Given the description of an element on the screen output the (x, y) to click on. 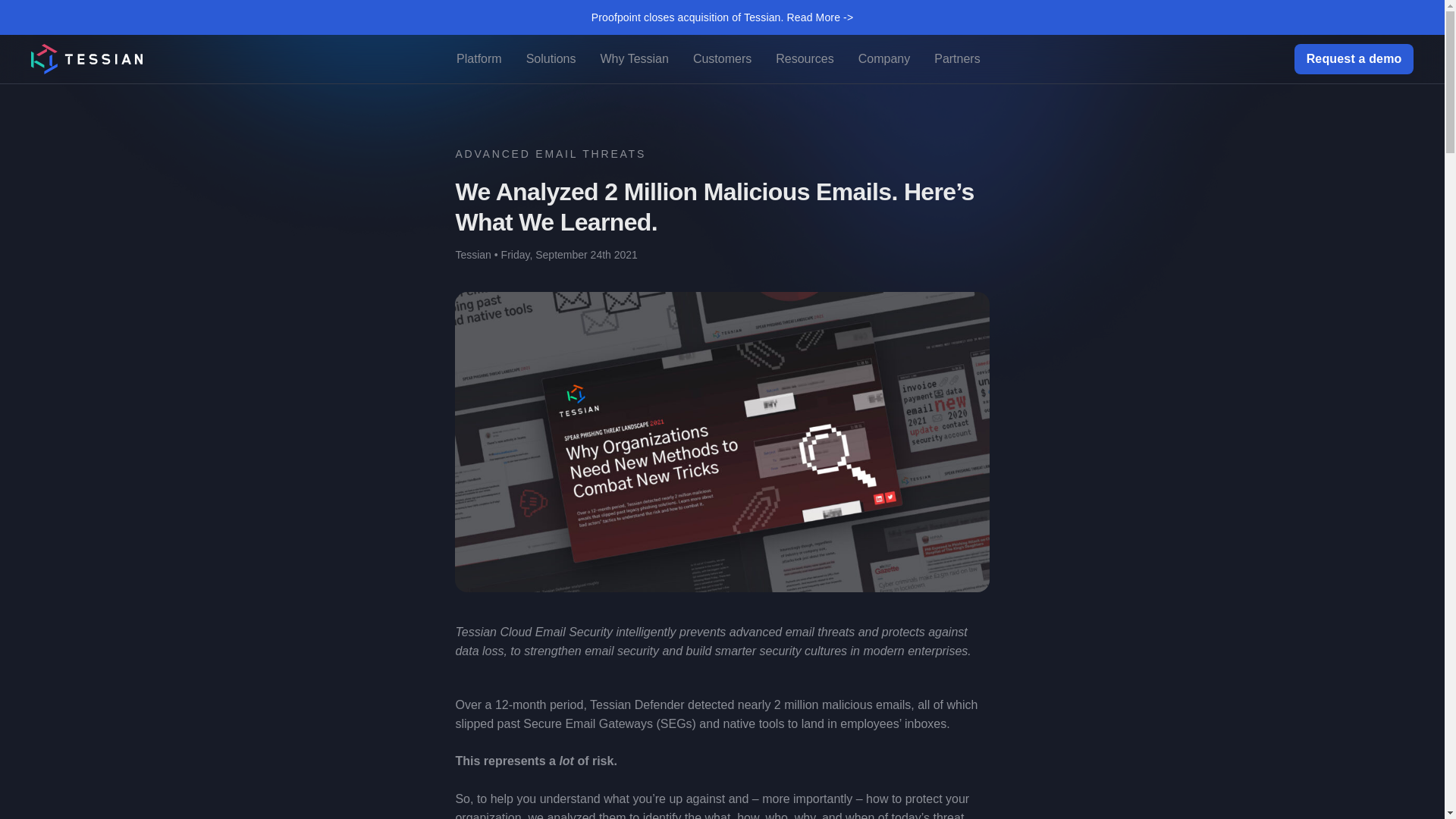
Partners (956, 58)
Platform (479, 58)
Request a demo (1353, 59)
Customers (722, 58)
Resources (804, 58)
Company (884, 58)
Why Tessian (633, 58)
Solutions (550, 58)
